Given the description of an element on the screen output the (x, y) to click on. 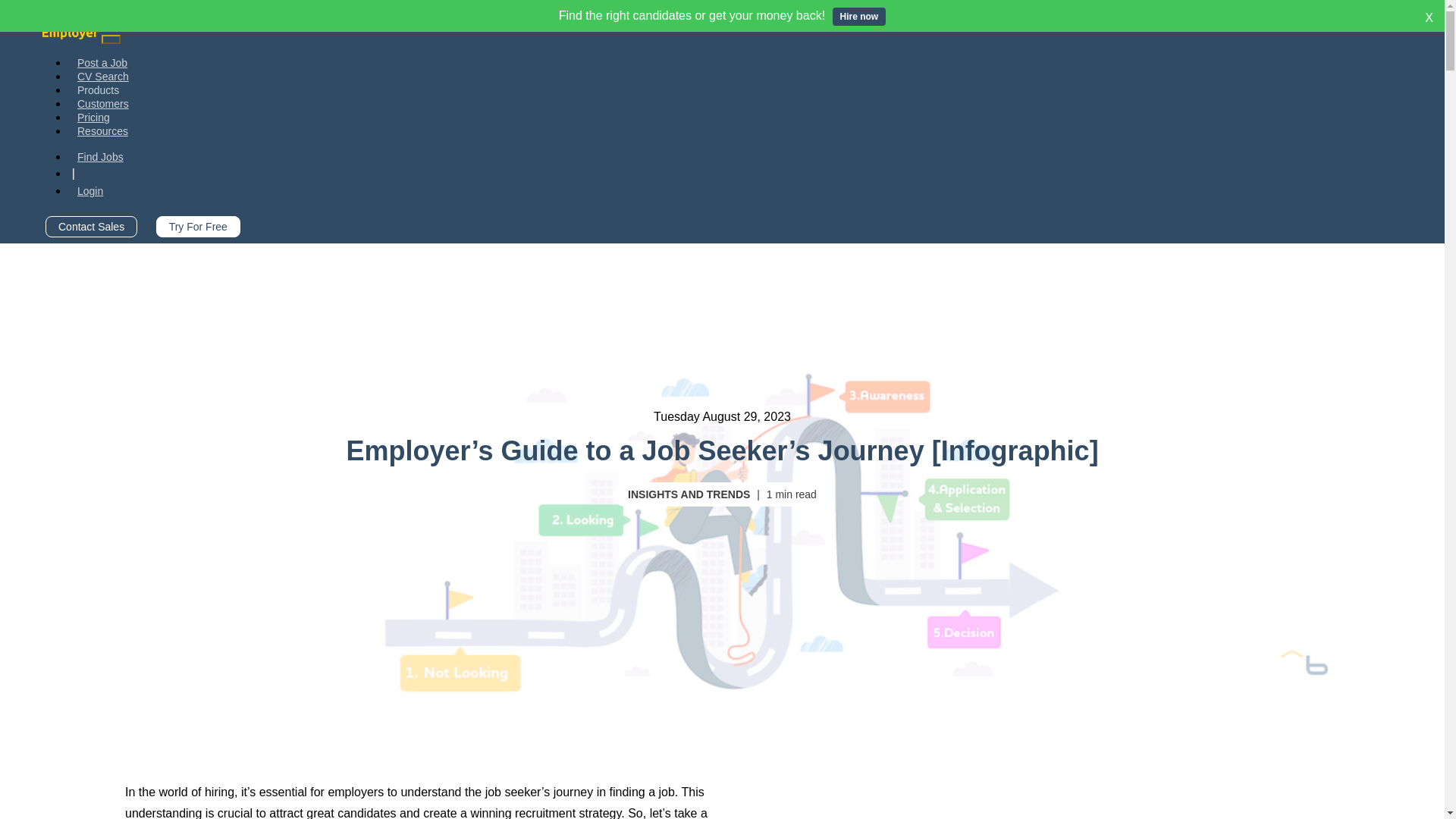
Pricing (93, 117)
Products (98, 90)
Login (90, 191)
Customers (103, 103)
Post a Job (102, 62)
Hire now (859, 16)
Contact Sales (90, 226)
CV Search (103, 76)
Resources (102, 131)
Try For Free (197, 226)
Find Jobs (100, 156)
